Given the description of an element on the screen output the (x, y) to click on. 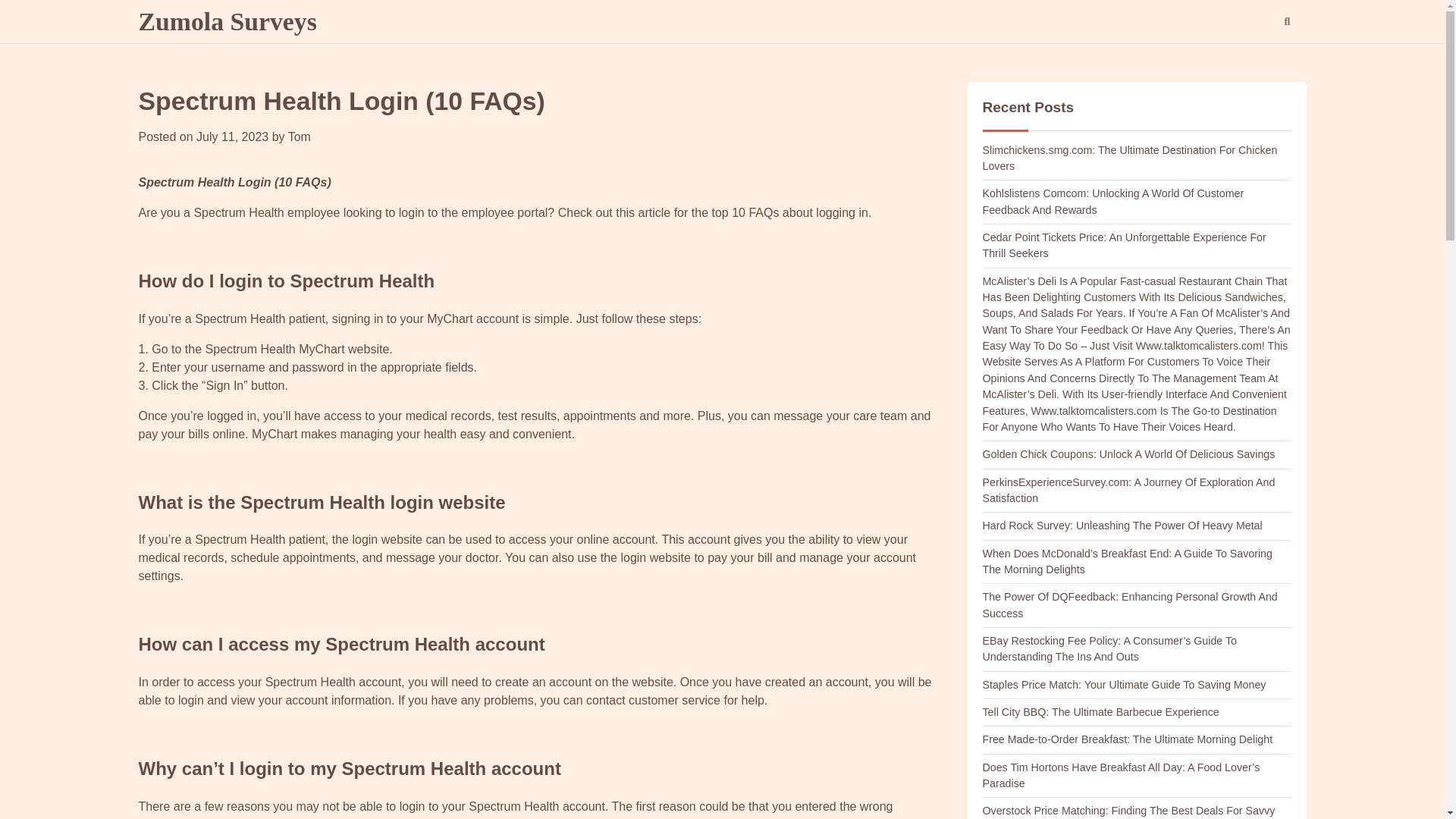
Golden Chick Coupons: Unlock A World Of Delicious Savings (1128, 453)
Zumola Surveys (226, 21)
Tell City BBQ: The Ultimate Barbecue Experience (1101, 711)
Hard Rock Survey: Unleashing The Power Of Heavy Metal (1122, 525)
Search (1286, 21)
Search (1259, 60)
Staples Price Match: Your Ultimate Guide To Saving Money (1124, 684)
Free Made-to-Order Breakfast: The Ultimate Morning Delight (1127, 739)
Tom (299, 136)
